Given the description of an element on the screen output the (x, y) to click on. 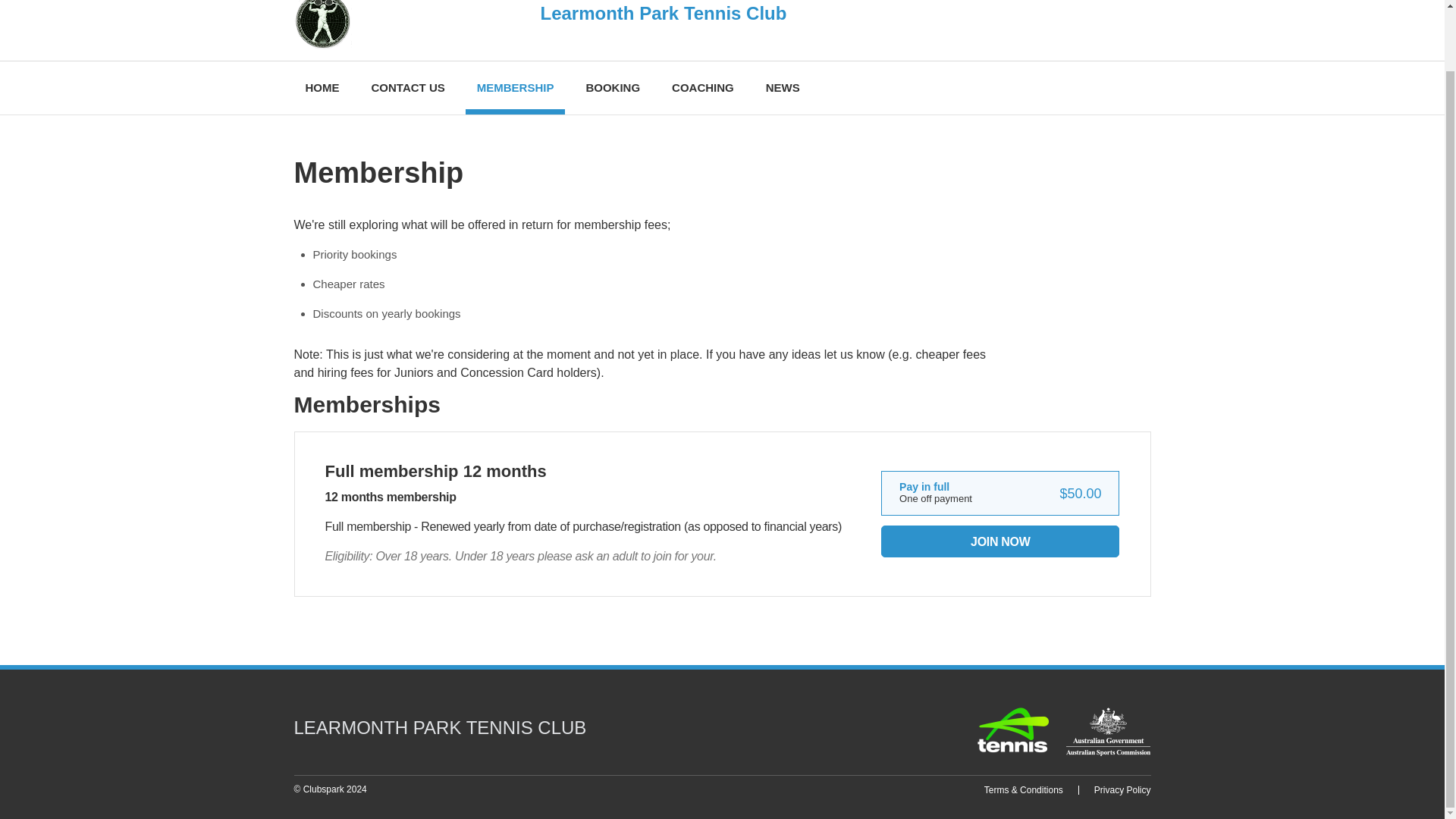
Tennis Australia (1013, 730)
MEMBERSHIP (515, 87)
NEWS (782, 87)
BOOKING (611, 87)
HOME (322, 87)
Privacy Policy (1122, 789)
Learmonth Park Tennis Club (593, 30)
COACHING (703, 87)
JOIN NOW (999, 541)
CONTACT US (407, 87)
